Given the description of an element on the screen output the (x, y) to click on. 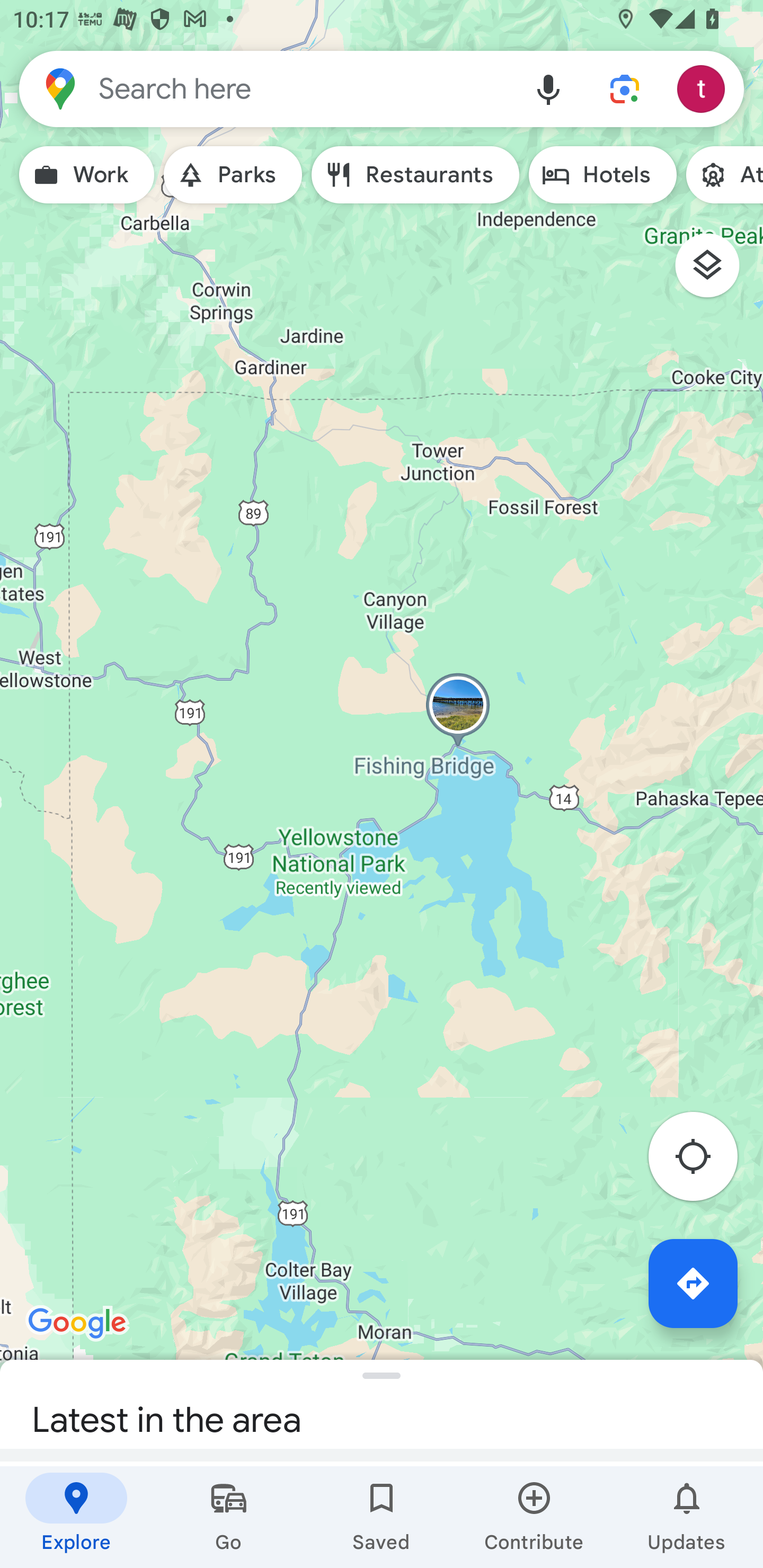
Search here (264, 88)
Voice search (548, 88)
Lens in Maps (624, 88)
Work (86, 174)
Parks Search for Parks (233, 174)
Restaurants Search for Restaurants (415, 174)
Hotels Search for Hotels (602, 174)
Attractions Search for Attractions (724, 174)
Layers (716, 271)
Re-center map to your location (702, 1161)
Directions (692, 1283)
Go (228, 1517)
Saved (381, 1517)
Contribute (533, 1517)
Updates (686, 1517)
